Given the description of an element on the screen output the (x, y) to click on. 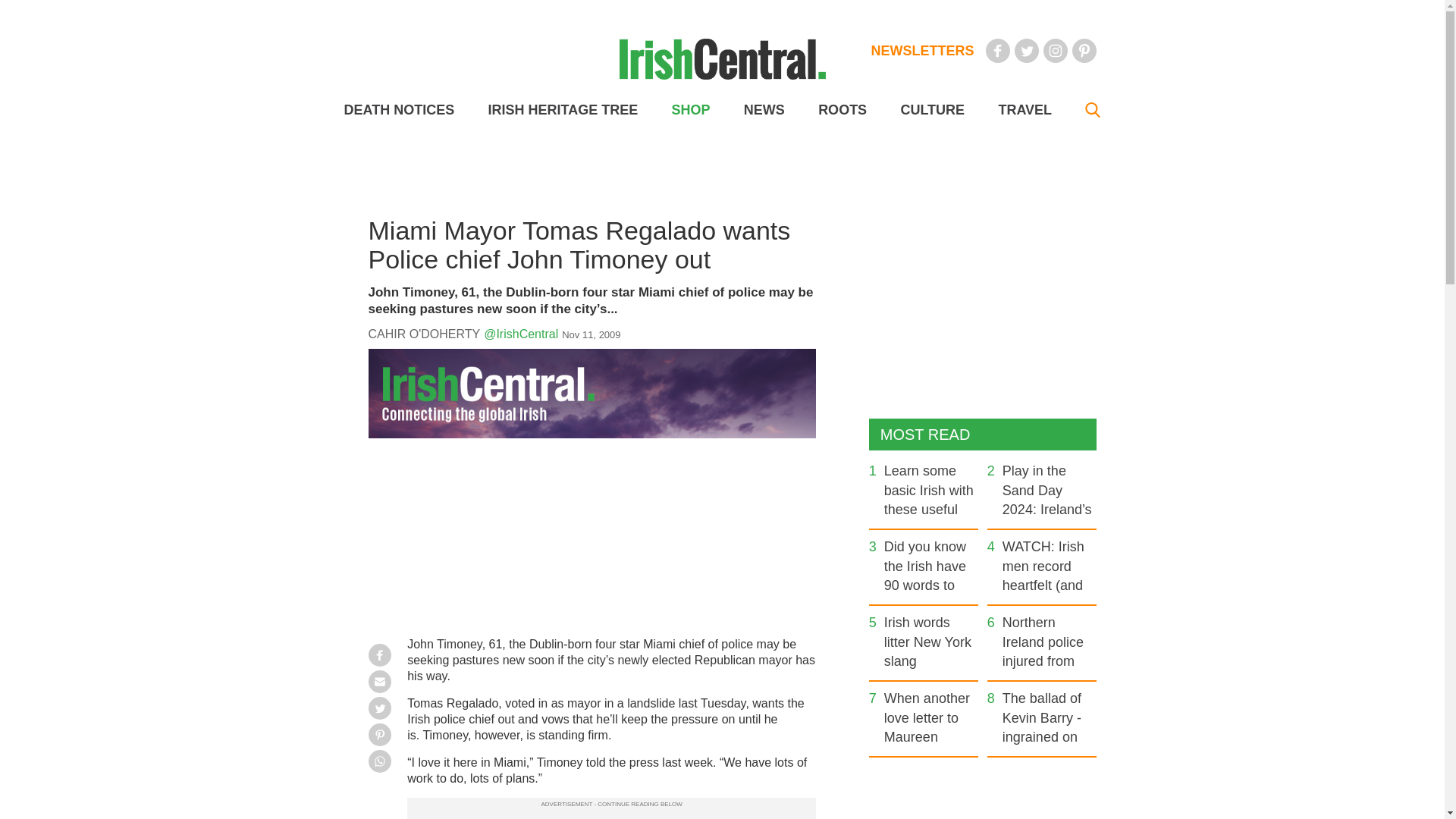
DEATH NOTICES (398, 109)
ROOTS (842, 109)
TRAVEL (1024, 109)
CULTURE (931, 109)
NEWS (764, 109)
IRISH HERITAGE TREE (562, 109)
SHOP (690, 109)
NEWSLETTERS (922, 50)
